Given the description of an element on the screen output the (x, y) to click on. 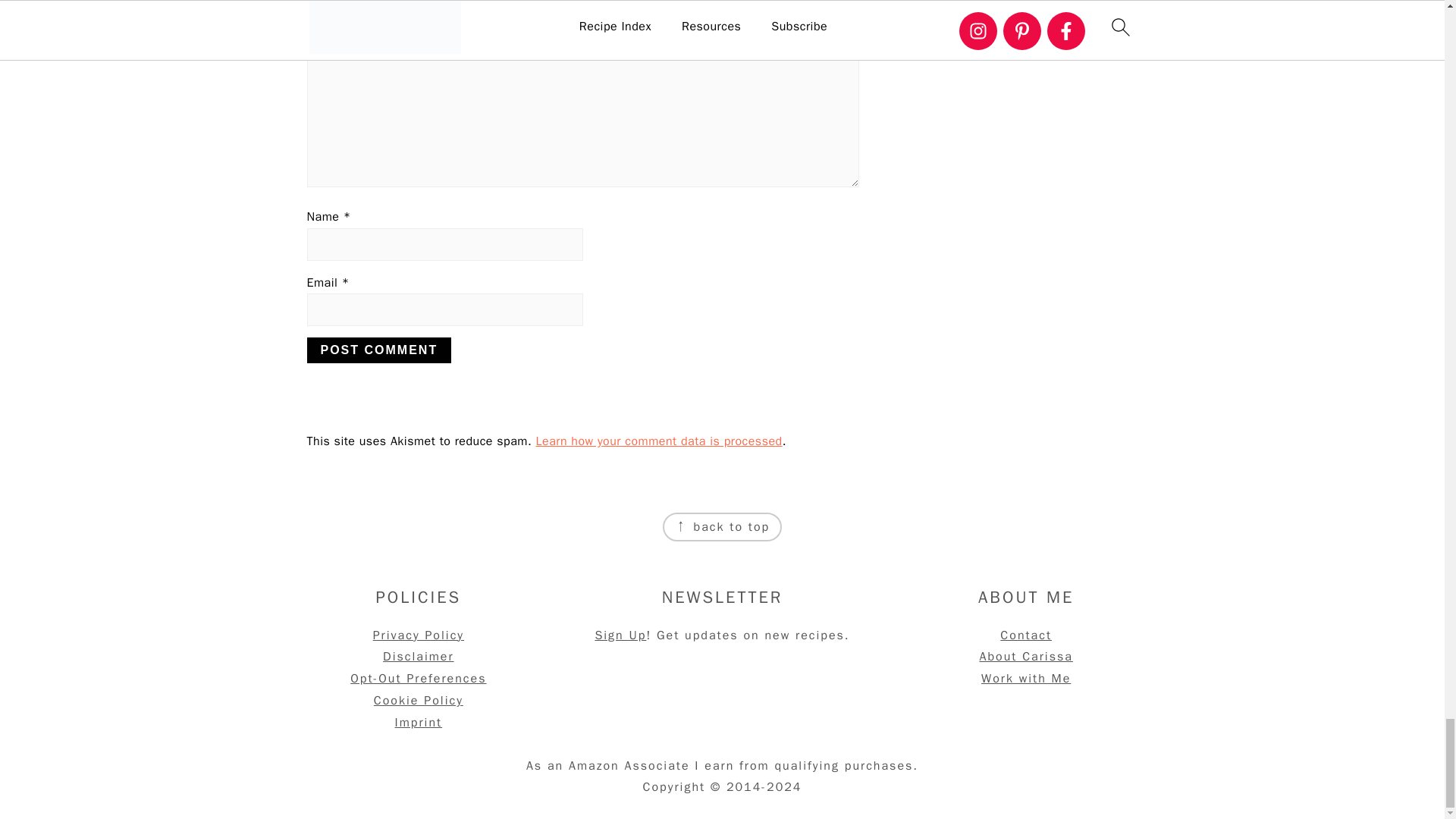
Post Comment (378, 350)
